Given the description of an element on the screen output the (x, y) to click on. 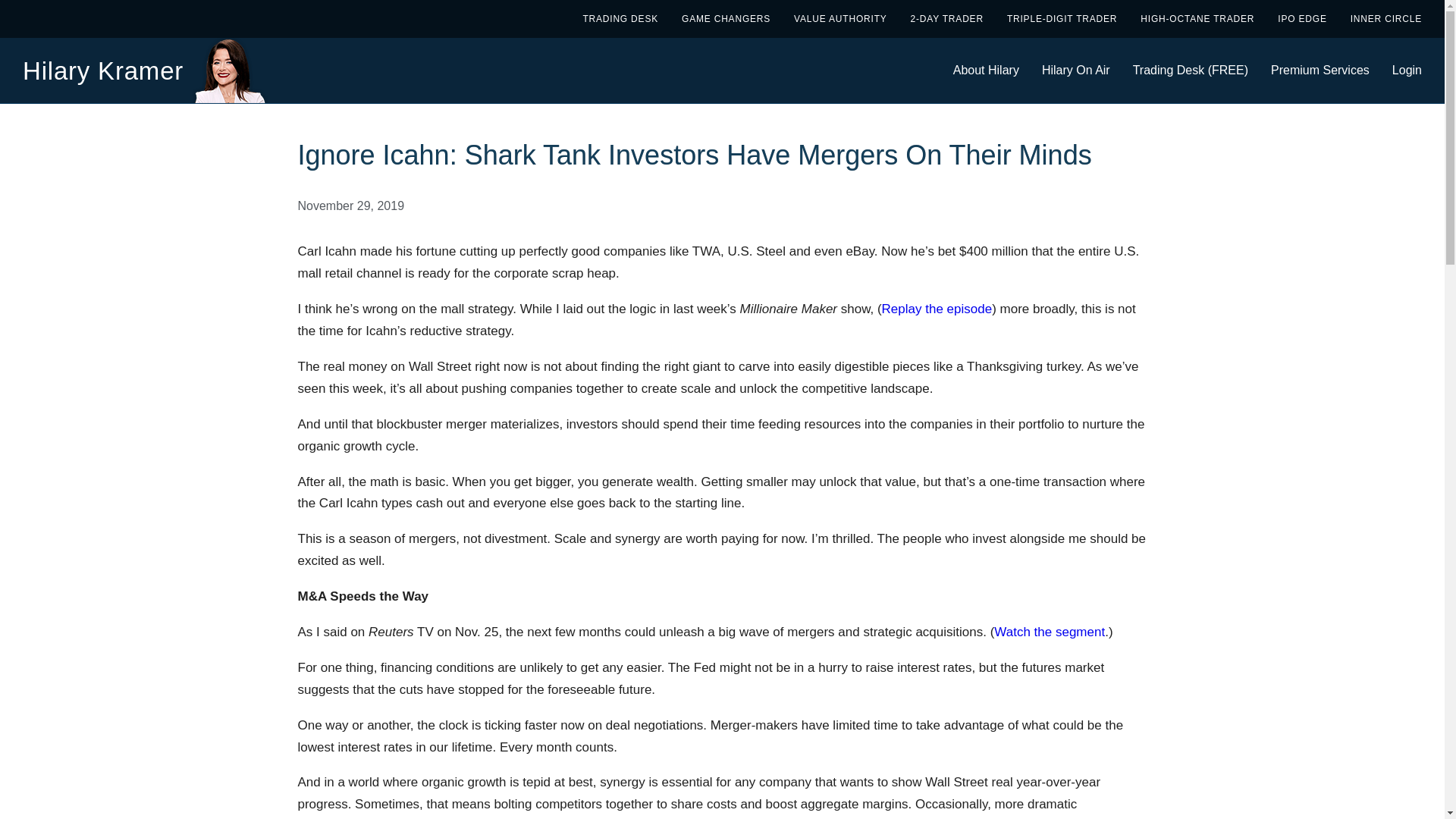
IPO EDGE (1302, 18)
Hilary On Air (1075, 70)
INNER CIRCLE (1386, 18)
TRIPLE-DIGIT TRADER (1061, 18)
About Hilary (986, 70)
Premium Services (1320, 70)
Hilary Kramer (103, 70)
2-DAY TRADER (947, 18)
HIGH-OCTANE TRADER (1196, 18)
TRADING DESK (620, 18)
VALUE AUTHORITY (839, 18)
GAME CHANGERS (725, 18)
